Given the description of an element on the screen output the (x, y) to click on. 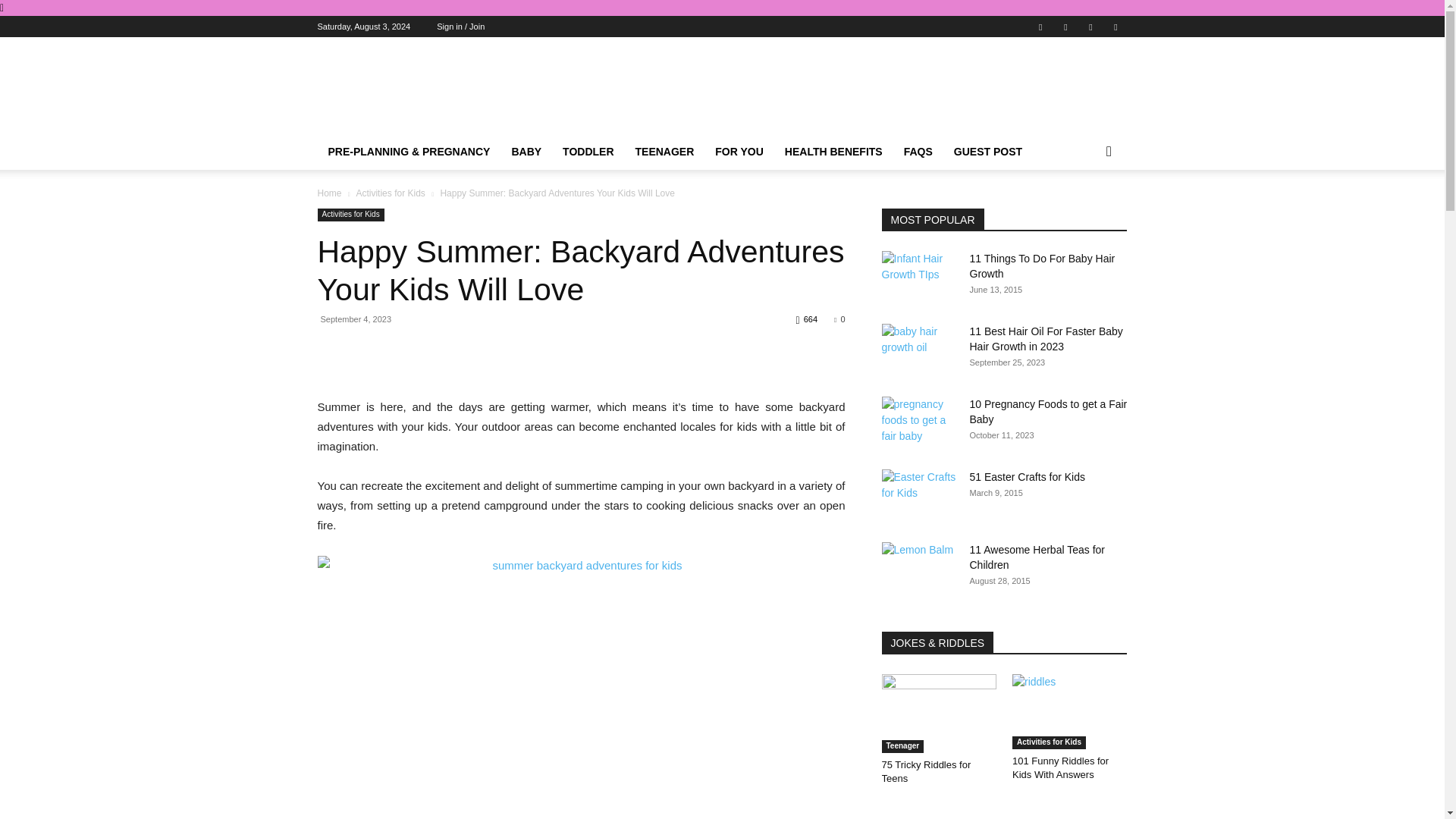
Home (328, 193)
TEENAGER (664, 151)
Activities for Kids (390, 193)
View all posts in Activities for Kids (390, 193)
TODDLER (587, 151)
Twitter (1090, 25)
FAQS (918, 151)
Pinterest (1065, 25)
FOR YOU (739, 151)
GUEST POST (987, 151)
